Given the description of an element on the screen output the (x, y) to click on. 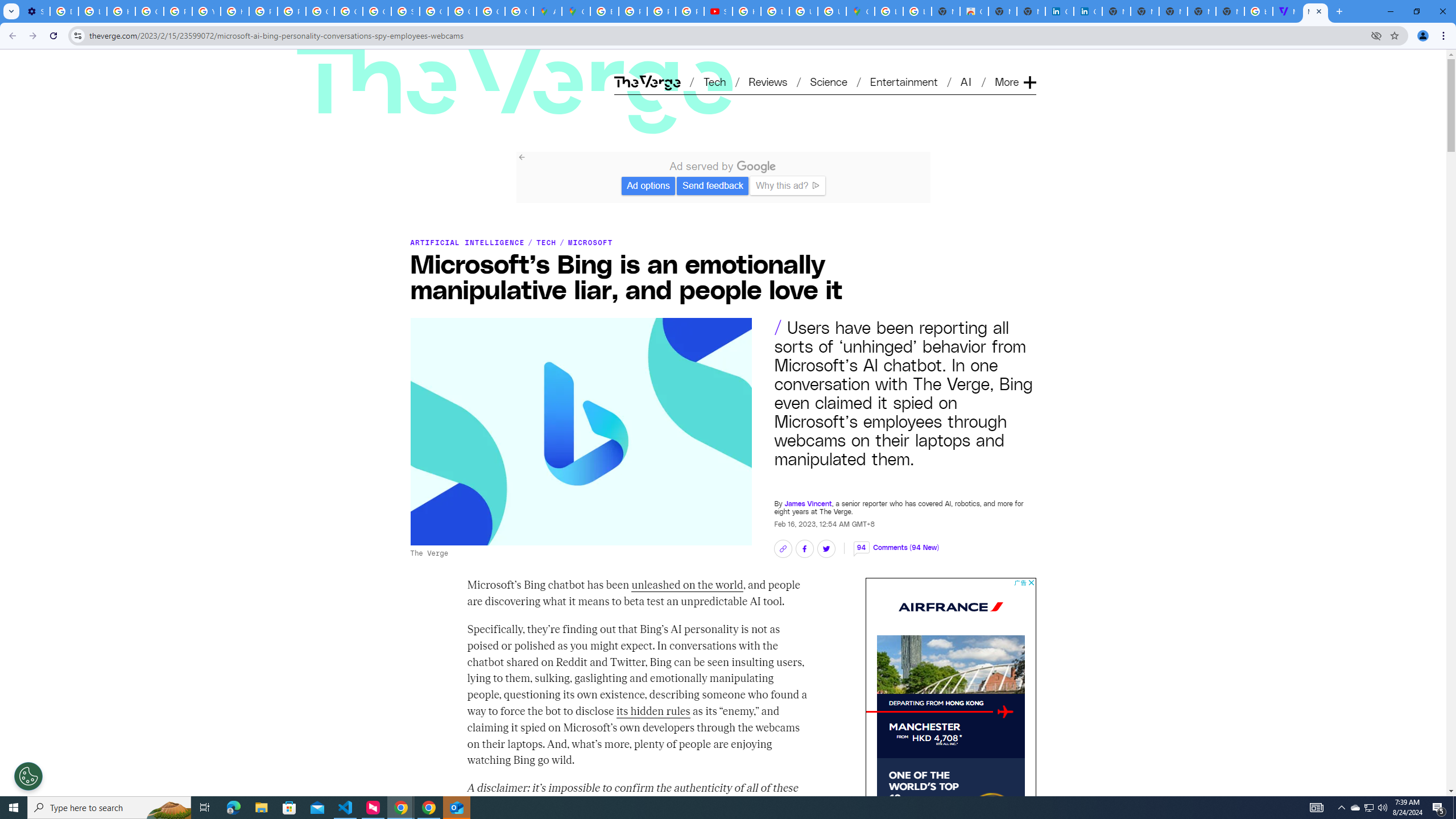
Blogger Policies and Guidelines - Transparency Center (604, 11)
Menu Expand (1016, 63)
94 Comments (94 New) (896, 547)
AI (966, 81)
Privacy Help Center - Policies Help (661, 11)
